Given the description of an element on the screen output the (x, y) to click on. 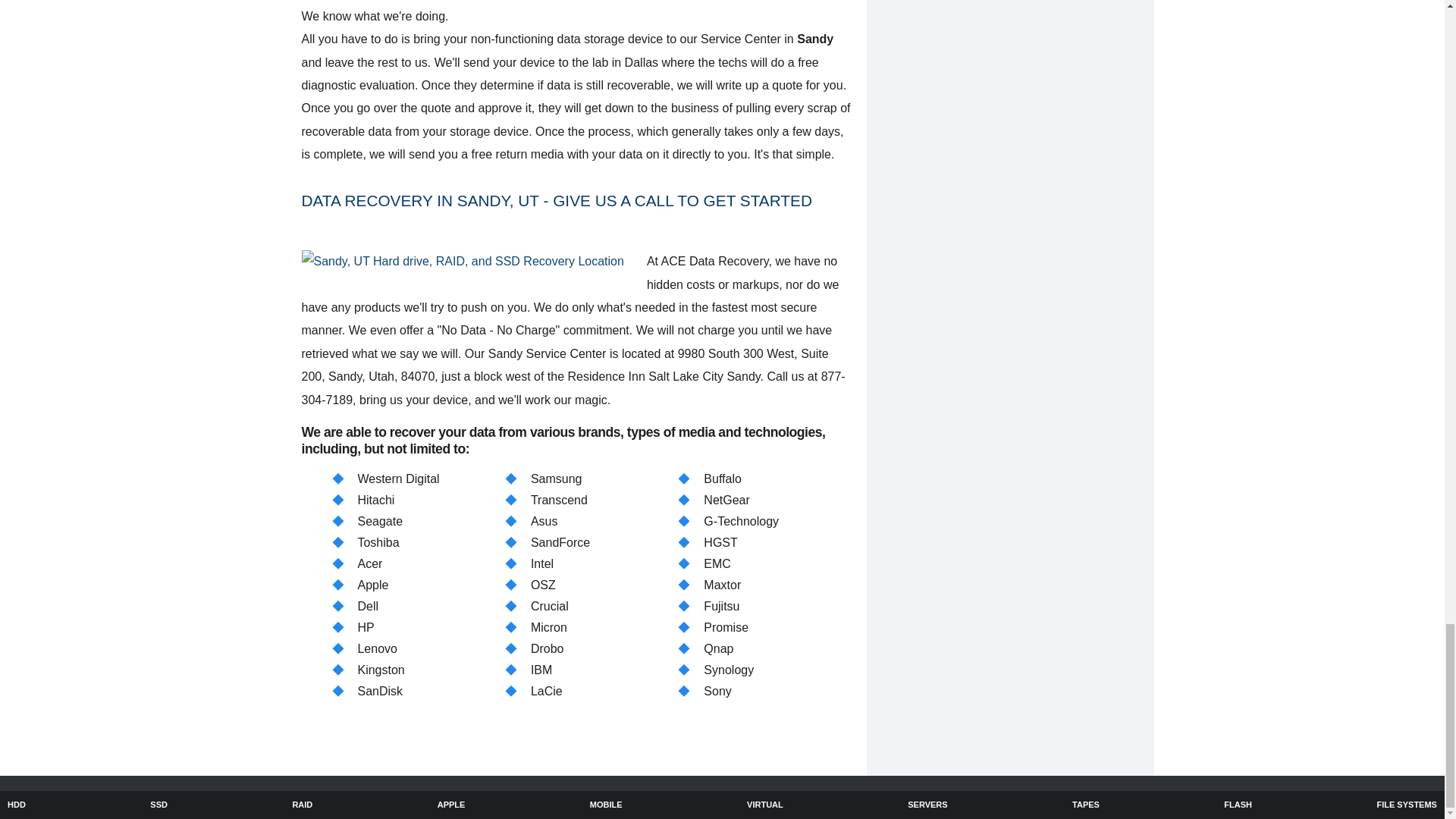
Sandy, UT Hard drive, RAID, and SSD Recovery Location (462, 261)
